Given the description of an element on the screen output the (x, y) to click on. 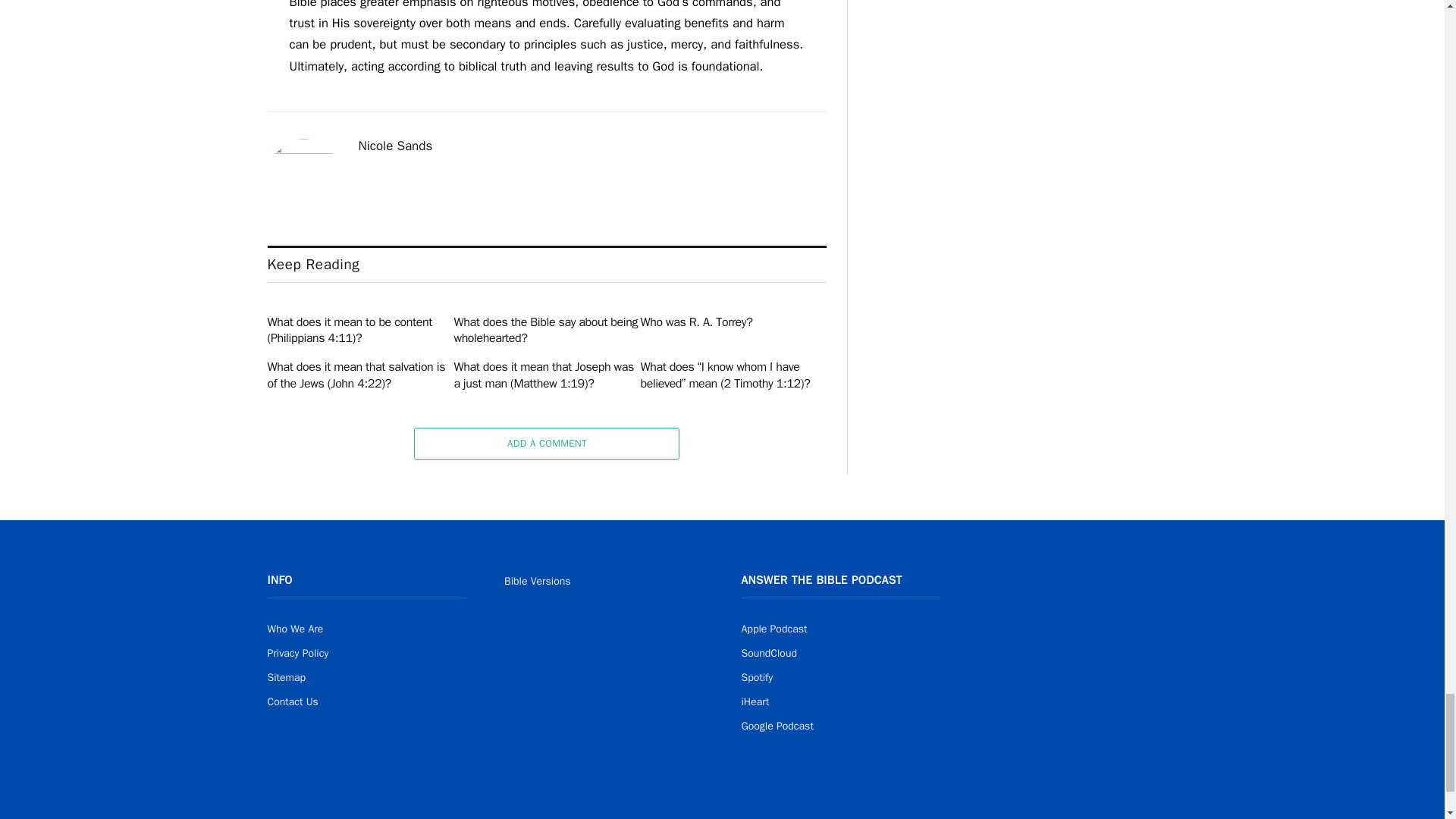
Privacy Policy (297, 653)
What does the Bible say about being wholehearted? (546, 331)
Nicole Sands (395, 145)
Who was R. A. Torrey? (733, 322)
Who We Are (294, 628)
ADD A COMMENT (546, 443)
Posts by Nicole Sands (395, 145)
